Given the description of an element on the screen output the (x, y) to click on. 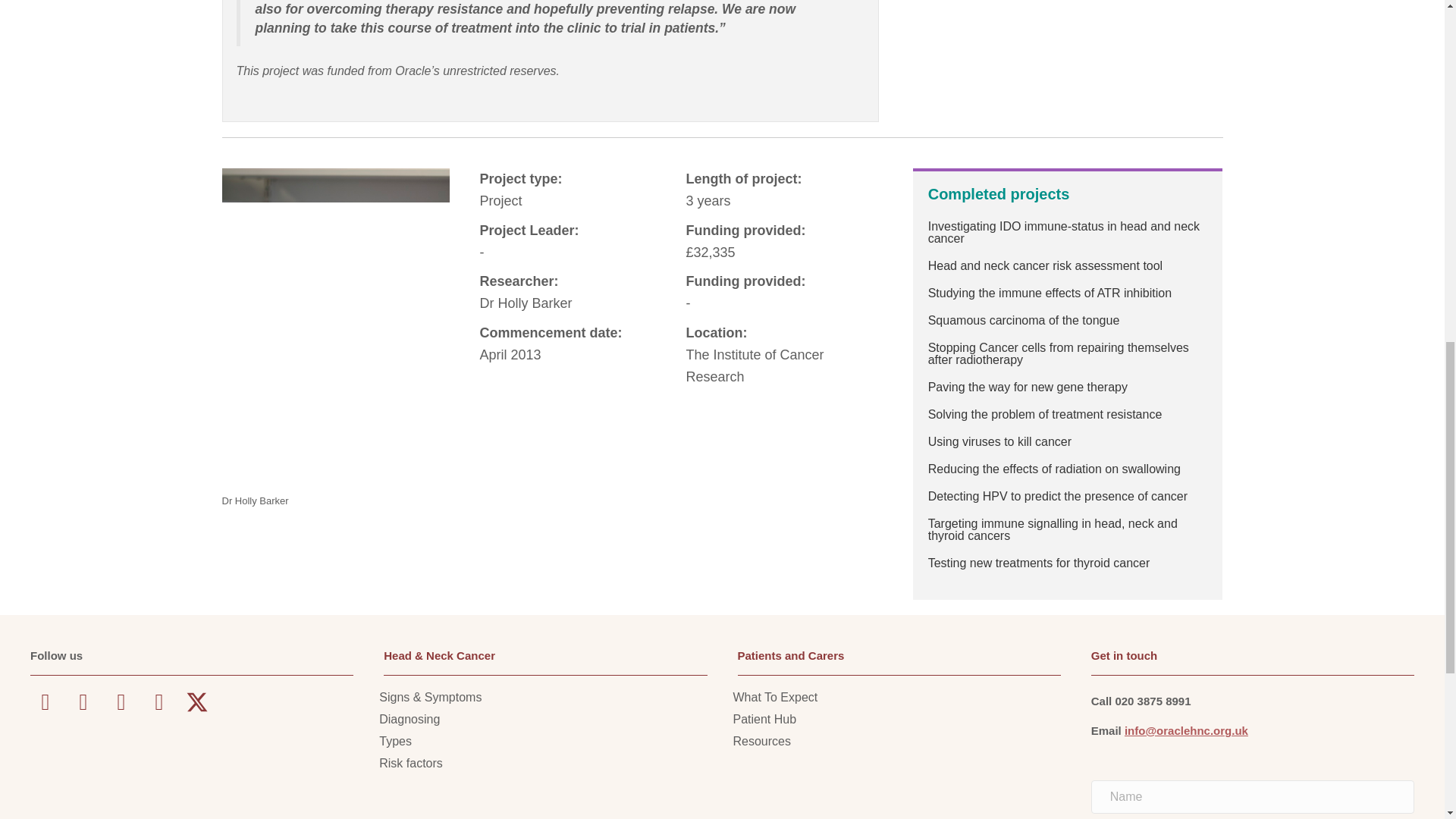
Studying the immune effects of ATR inhibition (1050, 292)
Investigating IDO immune-status in head and neck cancer (1063, 232)
Head and neck cancer risk assessment tool (1044, 265)
Squamous carcinoma of the tongue (1023, 319)
Paving the way for new gene therapy (1027, 386)
